Given the description of an element on the screen output the (x, y) to click on. 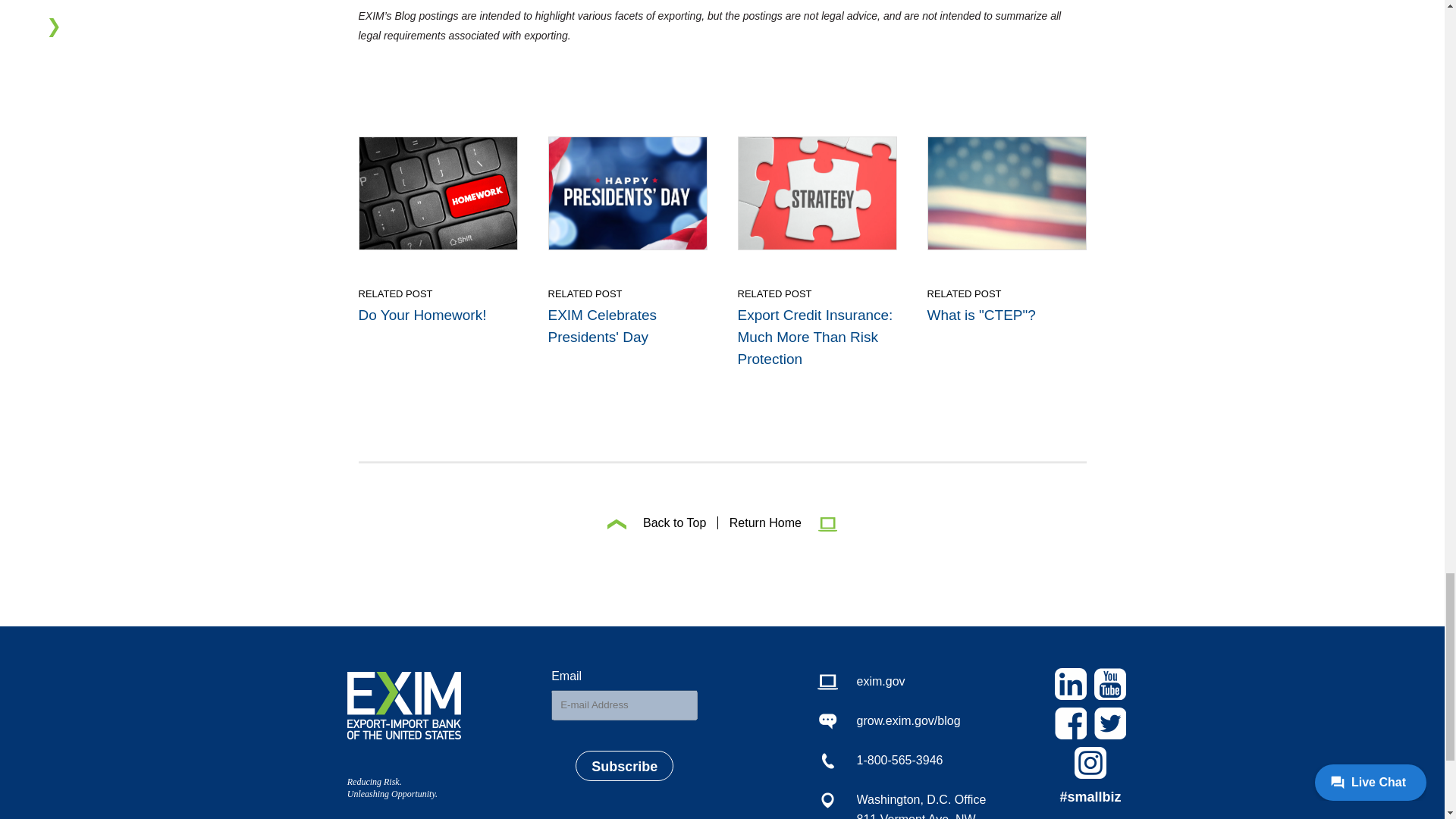
Back to Top (657, 522)
Subscribe (623, 766)
Return Home (778, 522)
Subscribe (623, 766)
exim.gov (901, 681)
